Given the description of an element on the screen output the (x, y) to click on. 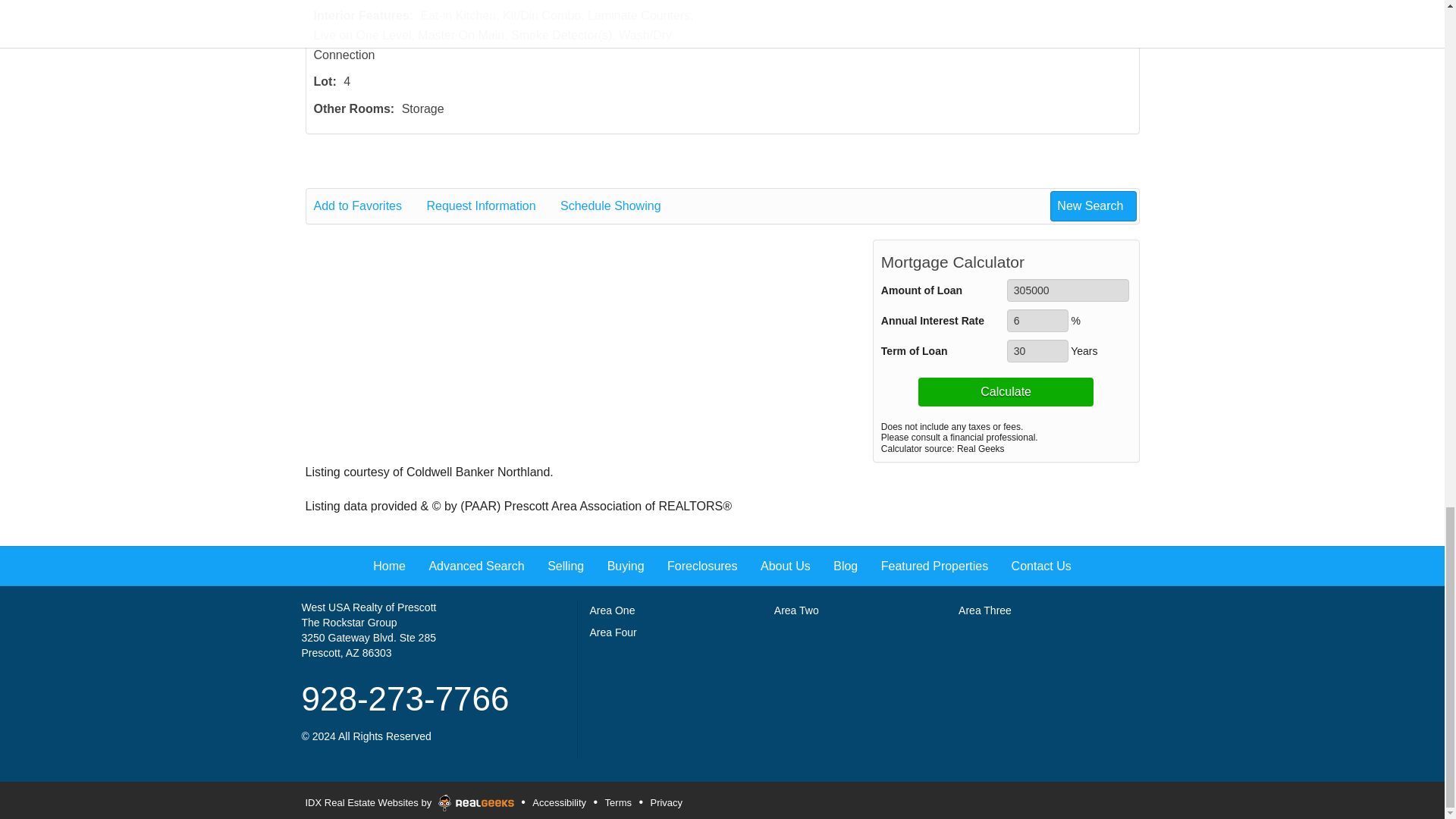
305000 (1068, 290)
30 (1037, 350)
6 (1037, 320)
